Given the description of an element on the screen output the (x, y) to click on. 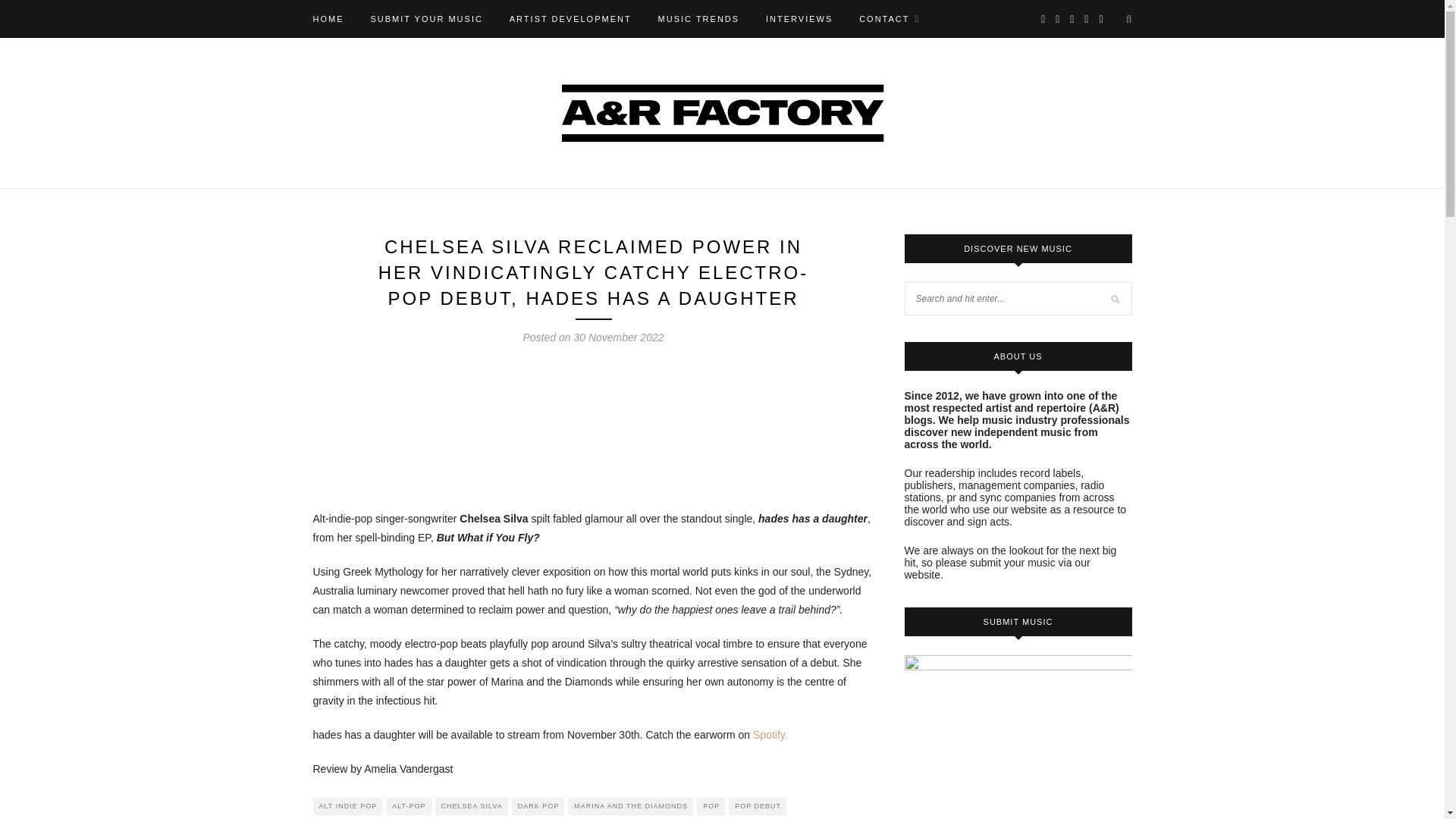
Spotify. (769, 734)
SUBMIT YOUR MUSIC (426, 18)
MUSIC TRENDS (698, 18)
CHELSEA SILVA (471, 805)
MARINA AND THE DIAMONDS (630, 805)
ALT-POP (407, 805)
POP DEBUT (757, 805)
INTERVIEWS (798, 18)
ARTIST DEVELOPMENT (570, 18)
CONTACT (889, 18)
